Given the description of an element on the screen output the (x, y) to click on. 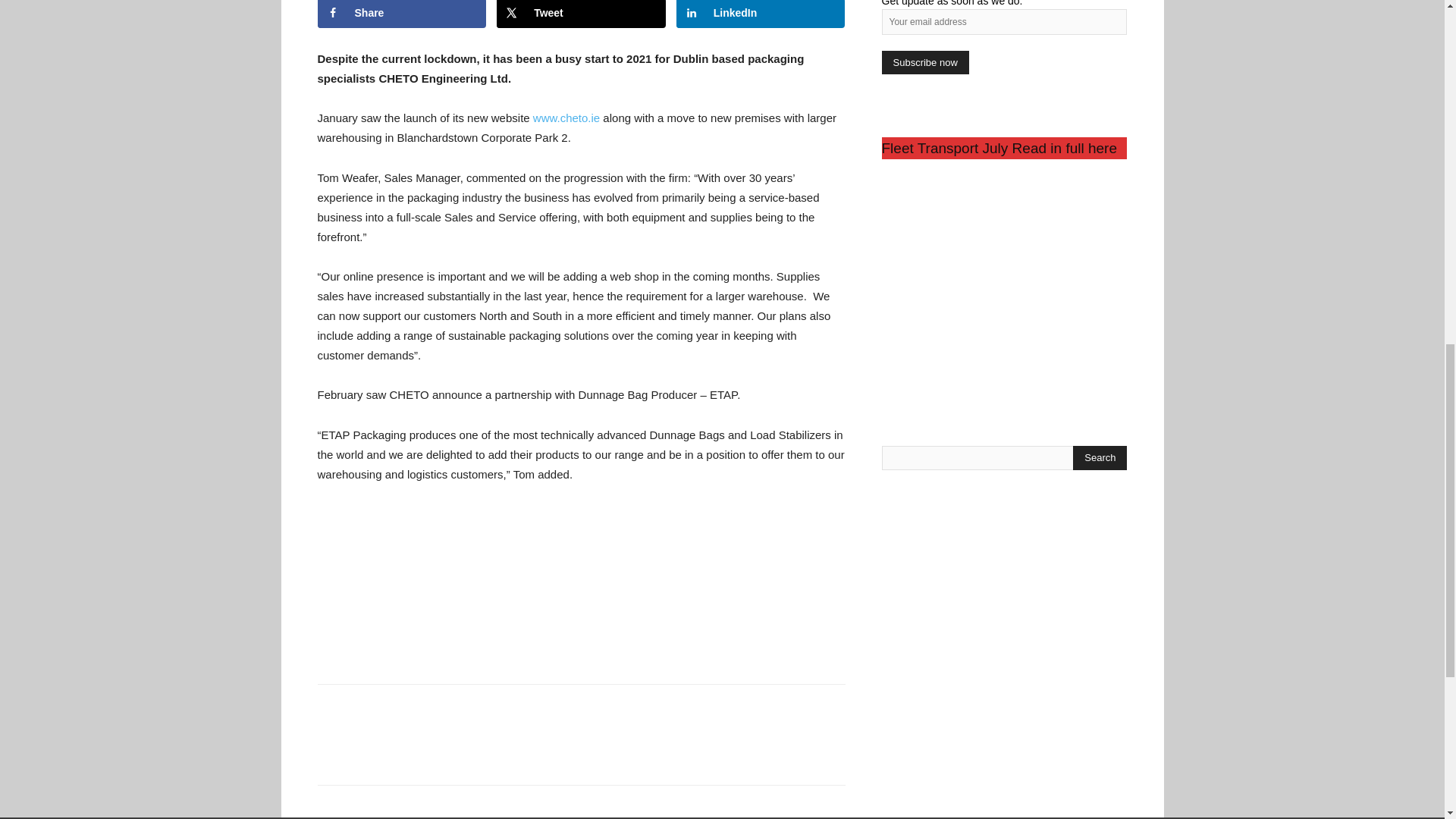
Subscribe now (924, 62)
Share on Facebook (401, 13)
Share on X (580, 13)
Share on LinkedIn (761, 13)
Search (1099, 457)
